Given the description of an element on the screen output the (x, y) to click on. 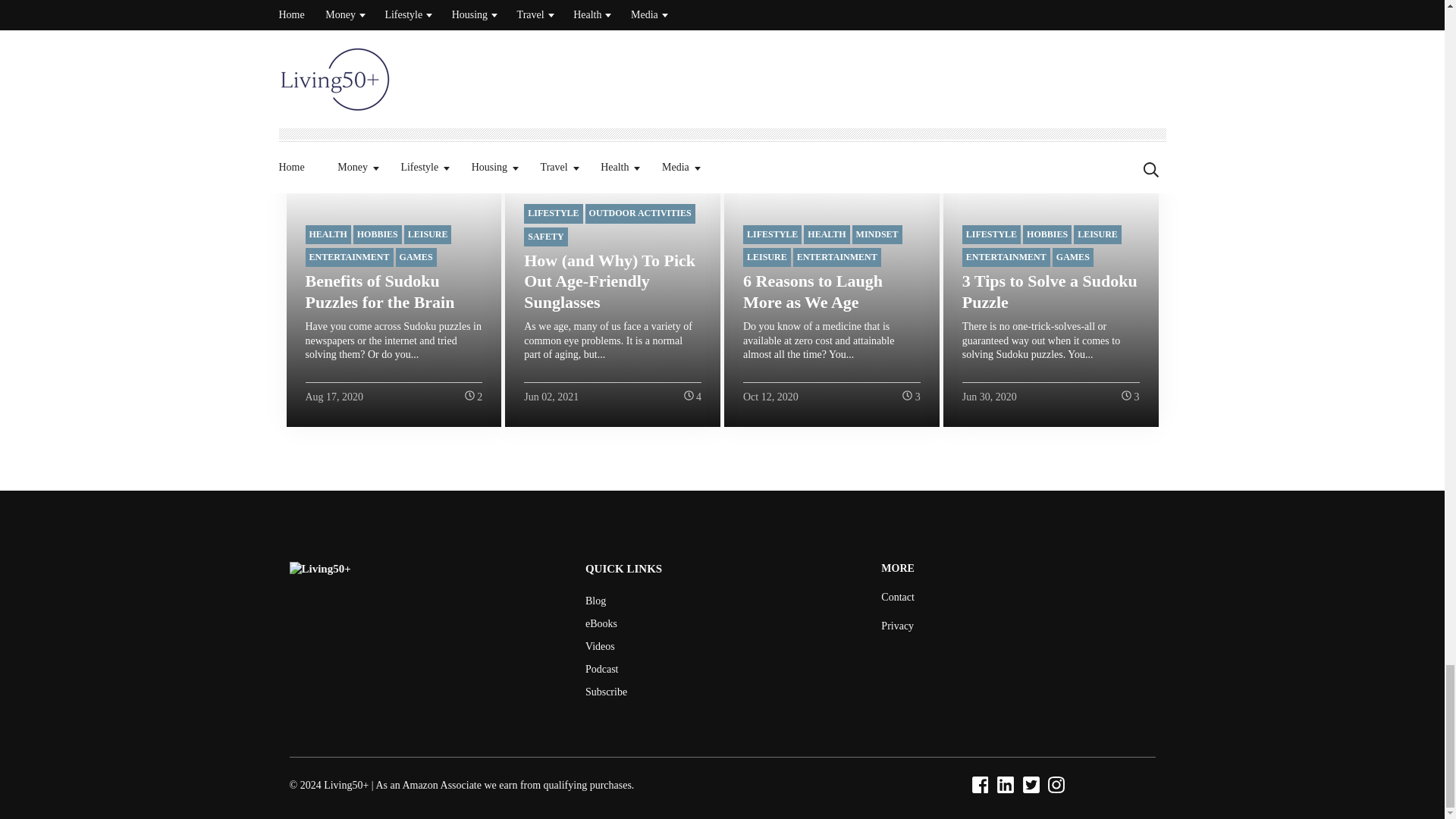
Reading time (469, 395)
Submit Comment (722, 72)
get a demo (897, 596)
Reading time (907, 395)
Reading time (689, 395)
Reading time (1126, 395)
